Given the description of an element on the screen output the (x, y) to click on. 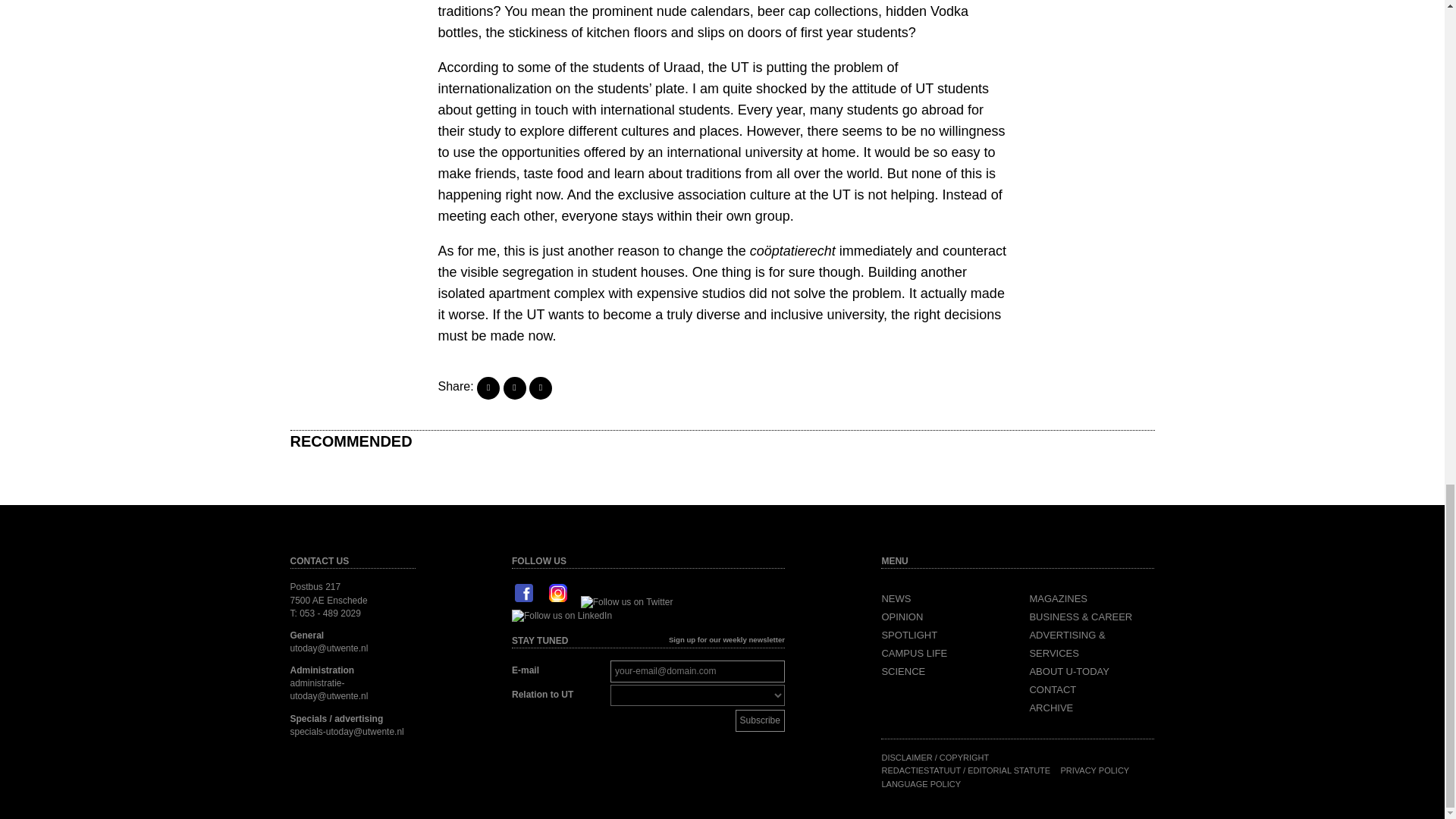
Share on Facebook (488, 387)
Share on Twitter (514, 387)
053 - 489 2029 (330, 613)
Subscribe (759, 721)
Share on LinkedIn (540, 387)
